Given the description of an element on the screen output the (x, y) to click on. 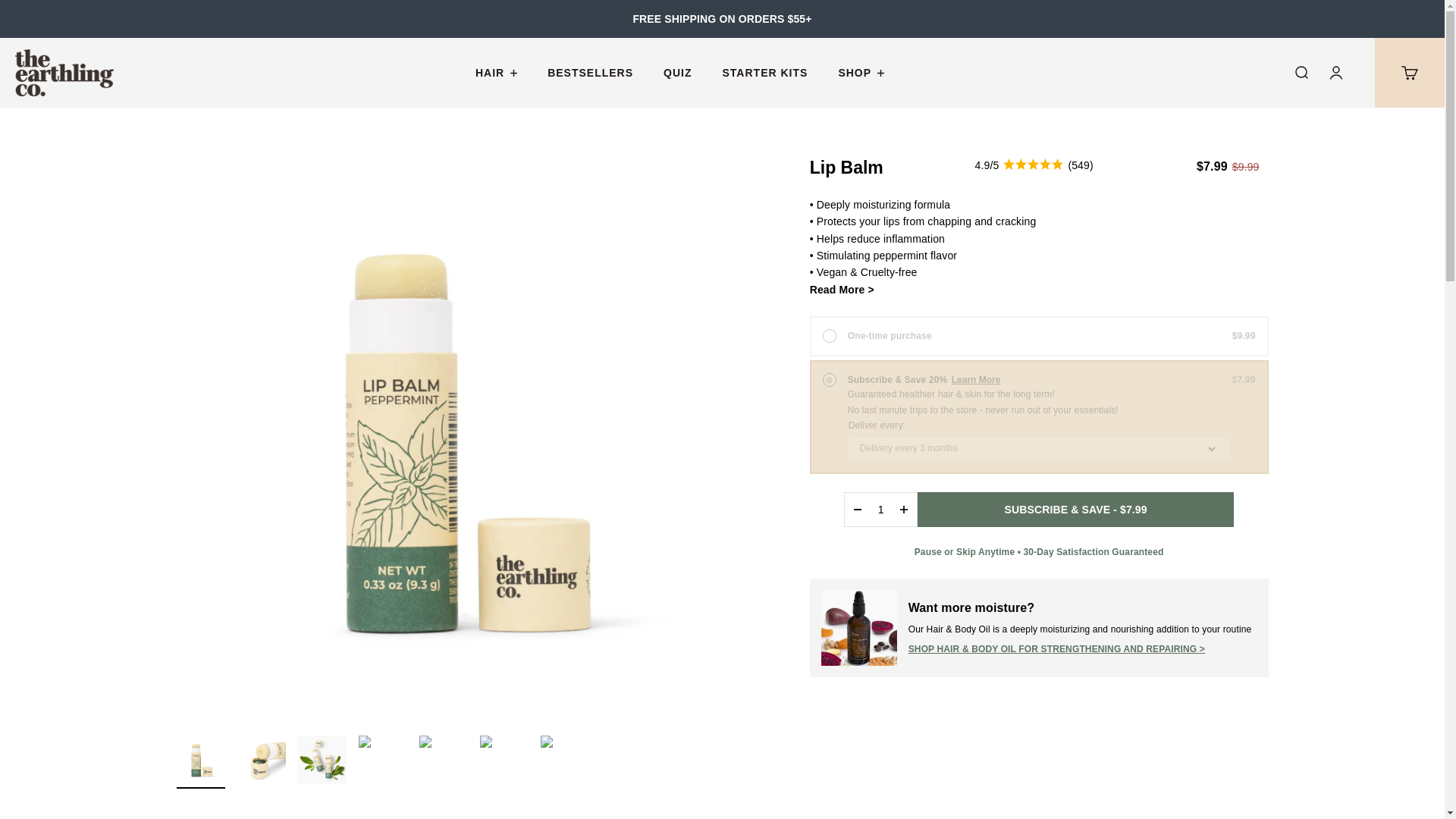
The Earthling Co. (63, 72)
549 reviews (1034, 165)
QUIZ (677, 72)
STARTER KITS (765, 72)
BESTSELLERS (590, 72)
Open search (1300, 73)
Open account page (1335, 73)
